Given the description of an element on the screen output the (x, y) to click on. 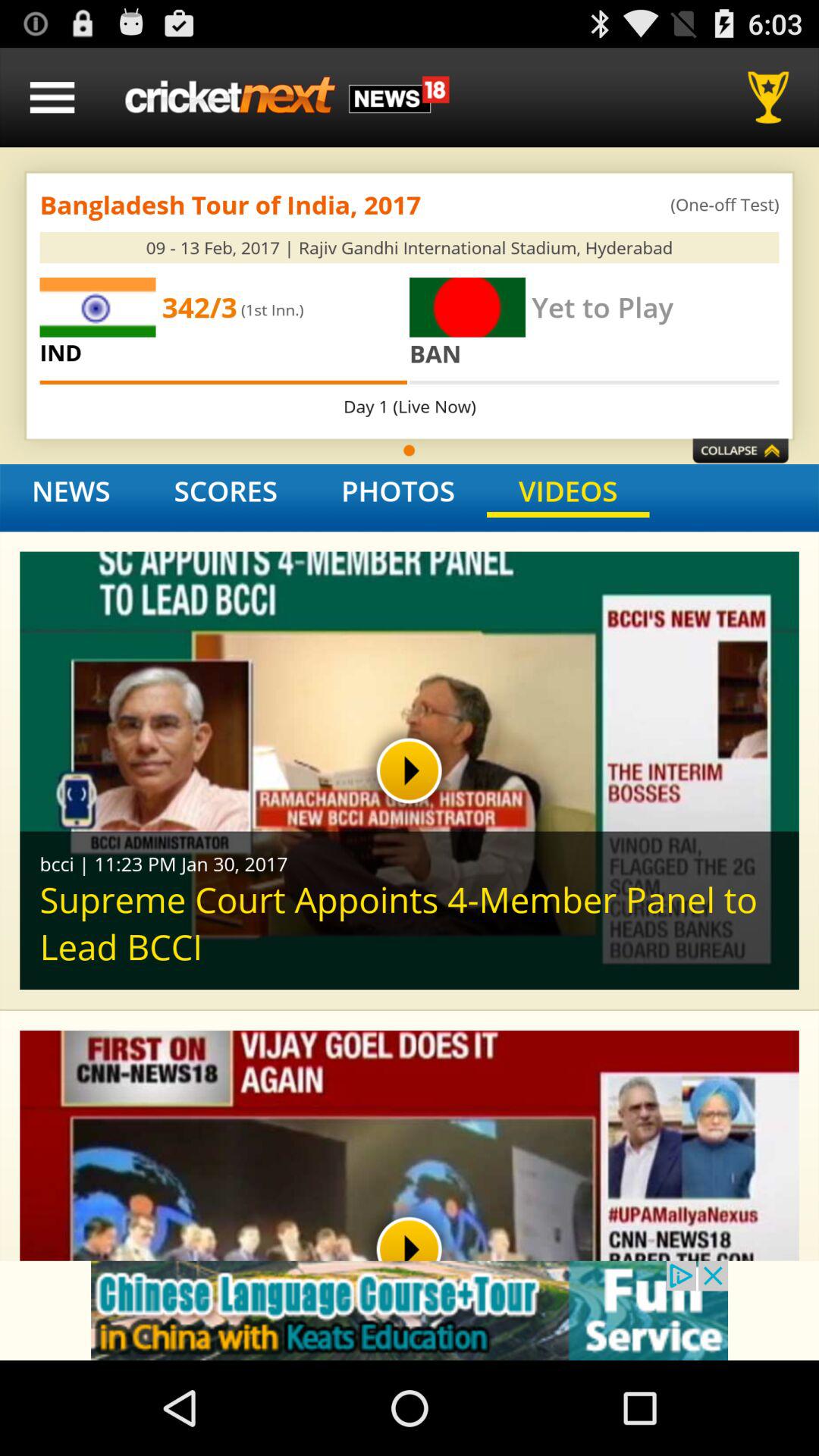
go to homepage (286, 97)
